Given the description of an element on the screen output the (x, y) to click on. 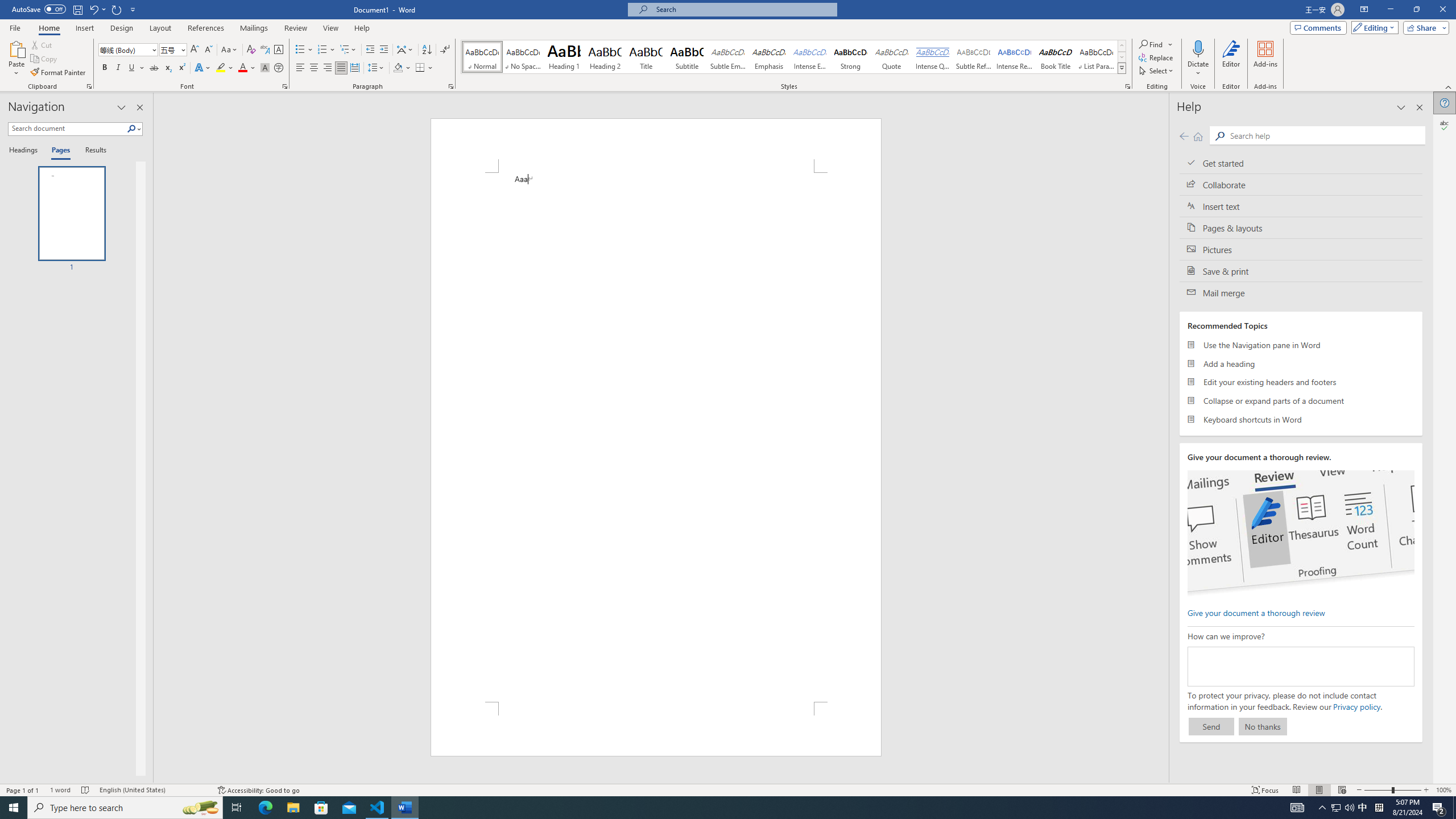
Give your document a thorough review (1256, 611)
Undo Increase Indent (92, 9)
Task Pane Options (121, 107)
AutoSave (38, 9)
Keyboard shortcuts in Word (1300, 419)
Insert text (1300, 206)
Insert (83, 28)
No thanks (1263, 726)
Emphasis (768, 56)
Page Number Page 1 of 1 (22, 790)
Paragraph... (450, 85)
